Given the description of an element on the screen output the (x, y) to click on. 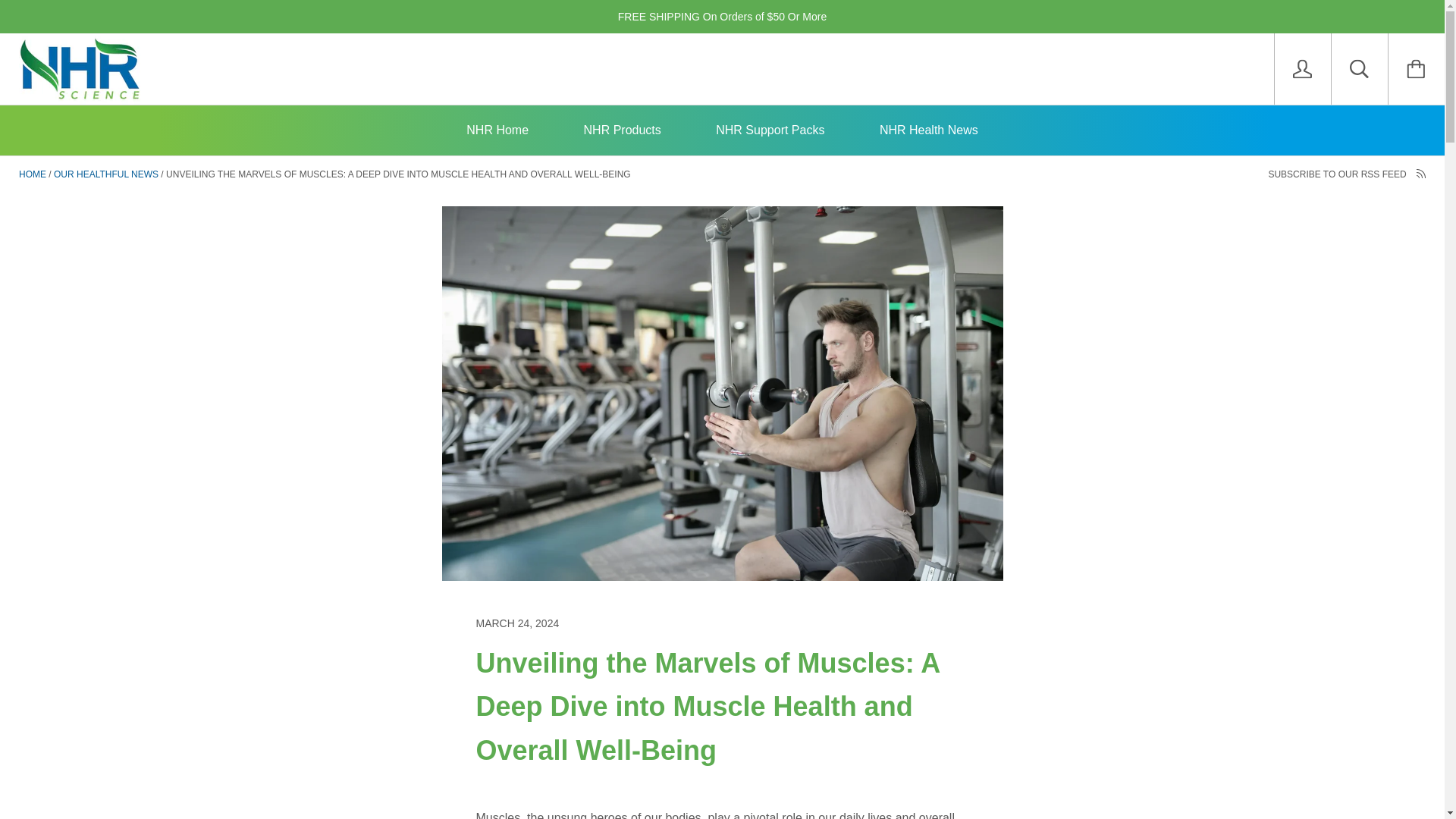
NHR Support Packs (770, 130)
OUR HEALTHFUL NEWS (105, 173)
NHR Health News (928, 130)
NHR Home (497, 130)
HOME (32, 173)
SUBSCRIBE TO OUR RSS FEED (1346, 173)
NHR Products (622, 130)
